Given the description of an element on the screen output the (x, y) to click on. 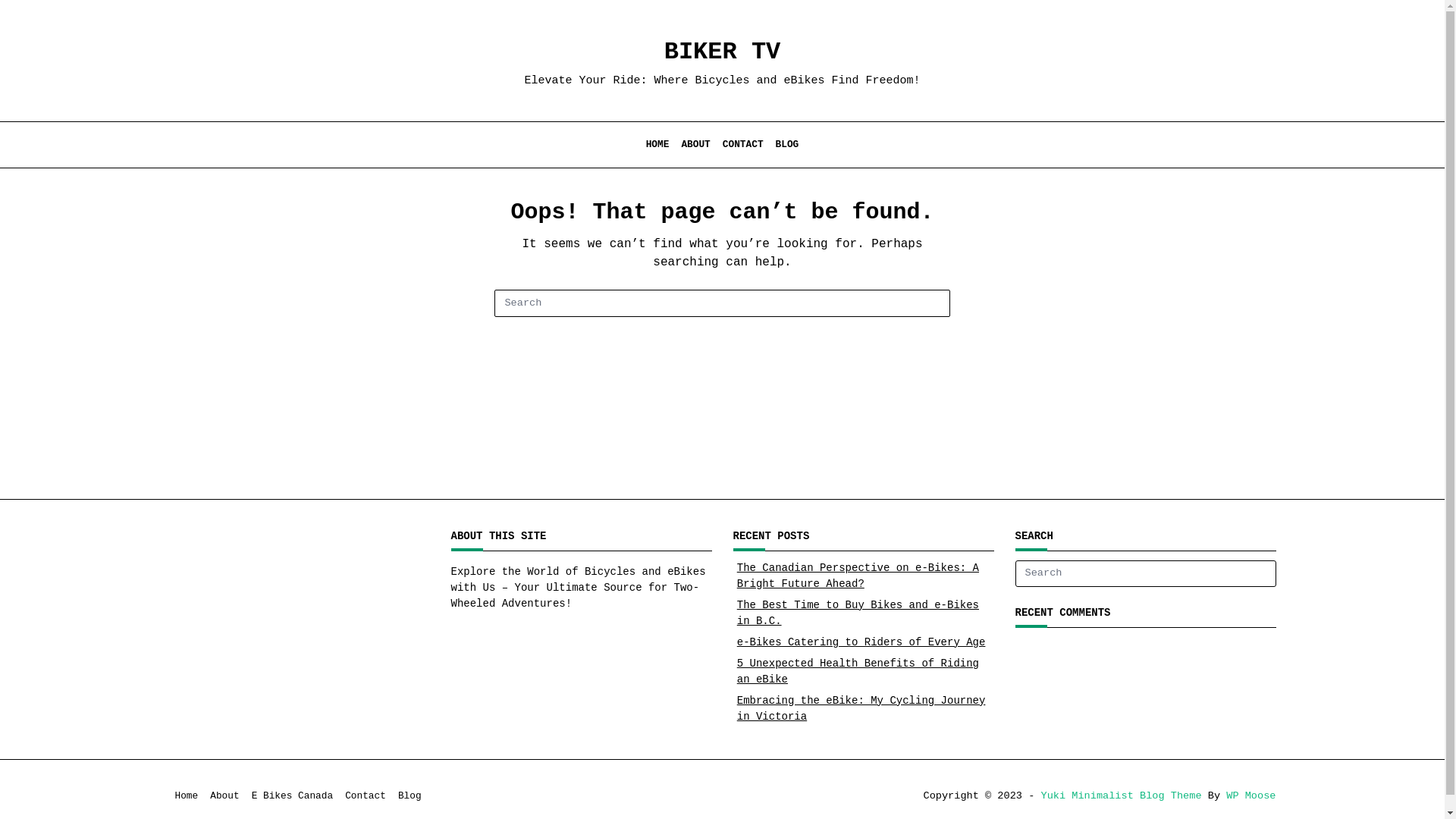
HOME Element type: text (657, 144)
e-Bikes Catering to Riders of Every Age Element type: text (861, 642)
The Canadian Perspective on e-Bikes: A Bright Future Ahead? Element type: text (858, 575)
ABOUT Element type: text (694, 144)
5 Unexpected Health Benefits of Riding an eBike Element type: text (858, 671)
Contact Element type: text (365, 796)
E Bikes Canada Element type: text (292, 796)
About Element type: text (223, 796)
WP Moose Element type: text (1250, 795)
Yuki Minimalist Blog Theme Element type: text (1120, 795)
Home Element type: text (185, 796)
BLOG Element type: text (787, 144)
CONTACT Element type: text (742, 144)
The Best Time to Buy Bikes and e-Bikes in B.C. Element type: text (858, 613)
Embracing the eBike: My Cycling Journey in Victoria Element type: text (861, 708)
Blog Element type: text (409, 796)
BIKER TV Element type: text (722, 51)
